Given the description of an element on the screen output the (x, y) to click on. 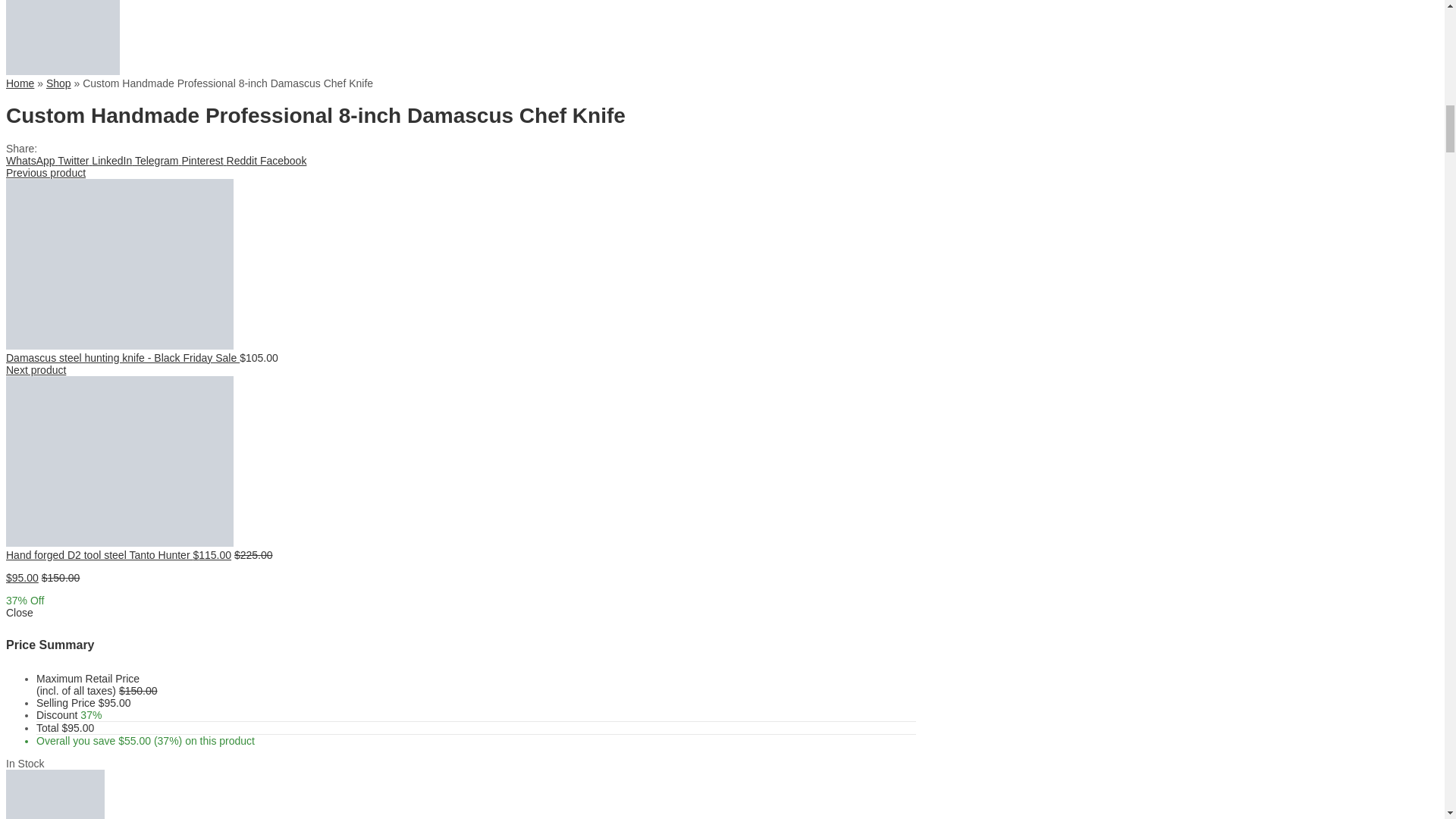
Shop (58, 82)
Twitter (71, 160)
LinkedIn (110, 160)
WhatsApp (30, 160)
Home (19, 82)
